Given the description of an element on the screen output the (x, y) to click on. 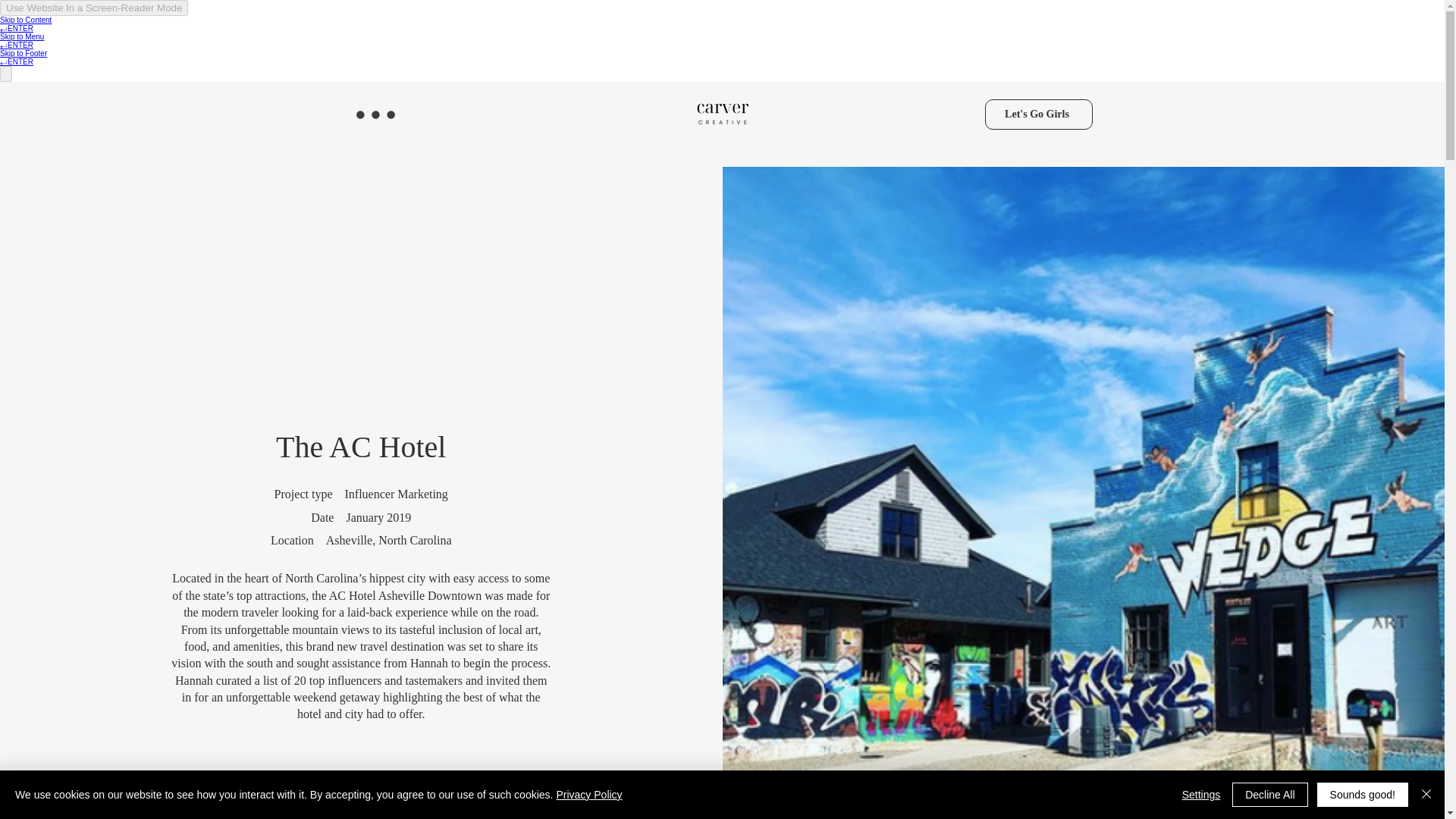
Decline All (1269, 794)
Hamburger Menu.png (374, 114)
Let's Go Girls (1038, 114)
Privacy Policy (588, 794)
Sounds good! (1362, 794)
